Given the description of an element on the screen output the (x, y) to click on. 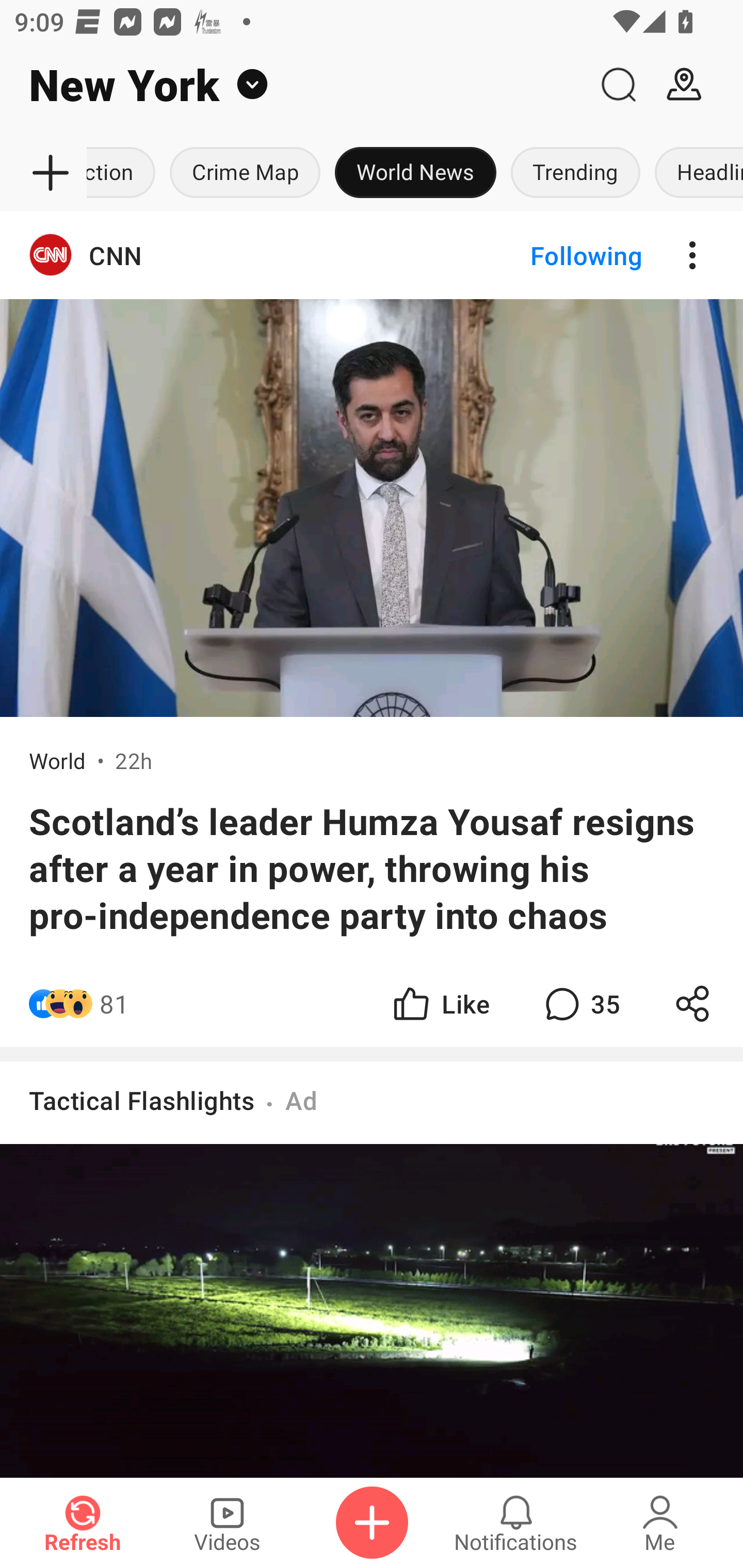
New York (292, 84)
Crime Map (244, 172)
World News (415, 172)
Trending (575, 172)
Headlines (695, 172)
CNN Following (371, 255)
Following (569, 255)
81 (114, 1003)
Like (439, 1003)
35 (579, 1003)
Tactical Flashlights (141, 1099)
Videos (227, 1522)
Notifications (516, 1522)
Me (659, 1522)
